Given the description of an element on the screen output the (x, y) to click on. 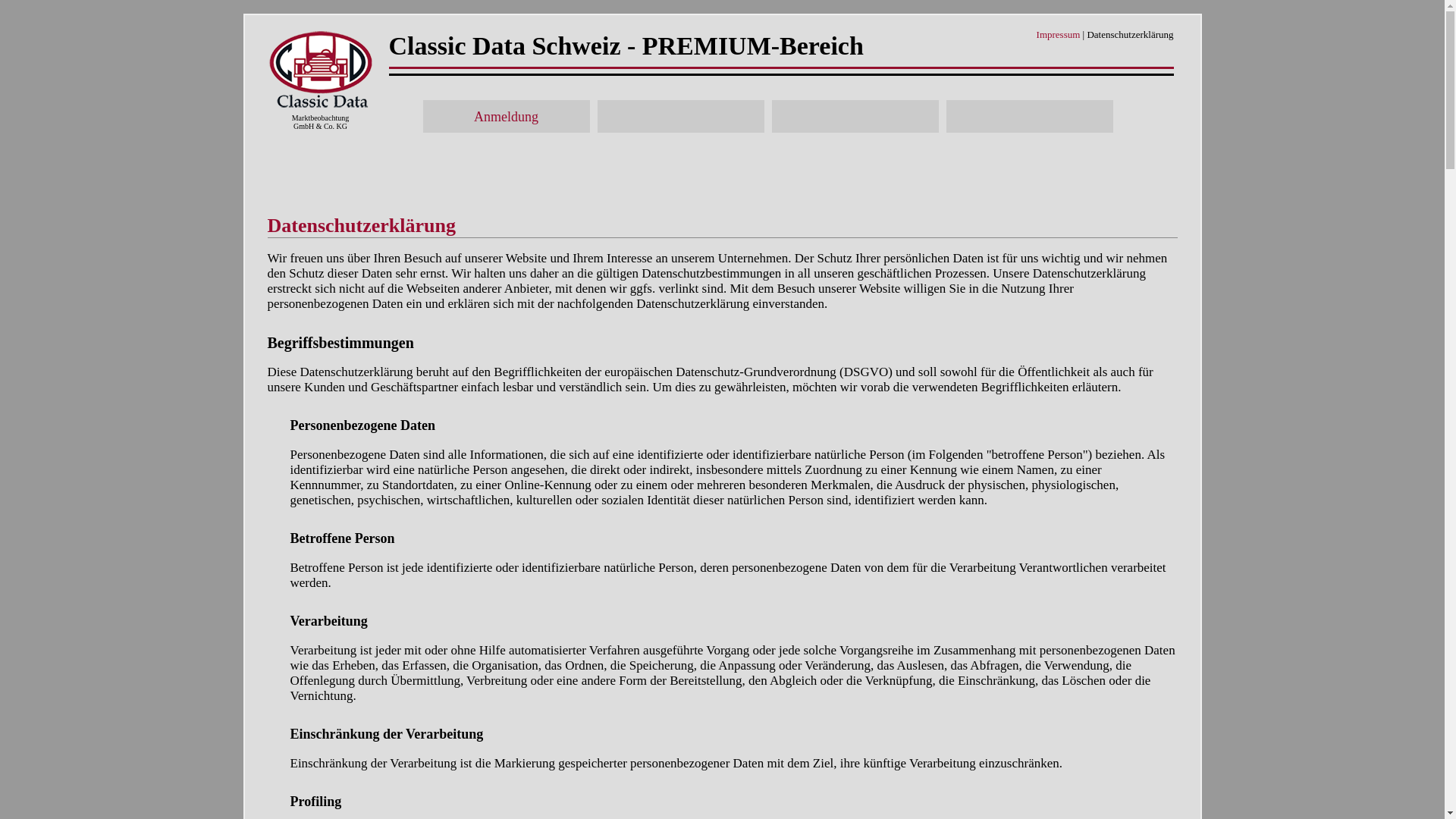
Anmeldung Element type: text (505, 116)
Impressum Element type: text (1058, 34)
